Given the description of an element on the screen output the (x, y) to click on. 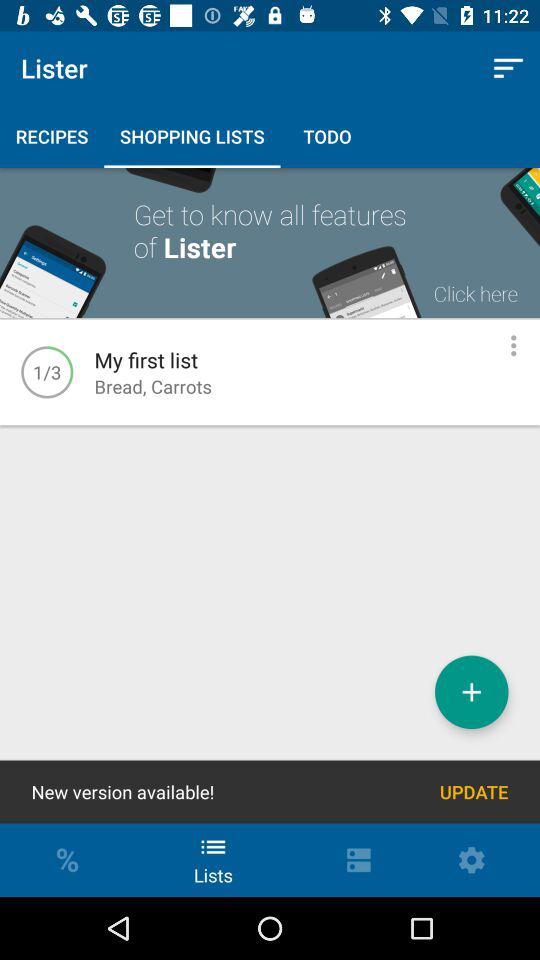
open item next to lister (508, 67)
